Given the description of an element on the screen output the (x, y) to click on. 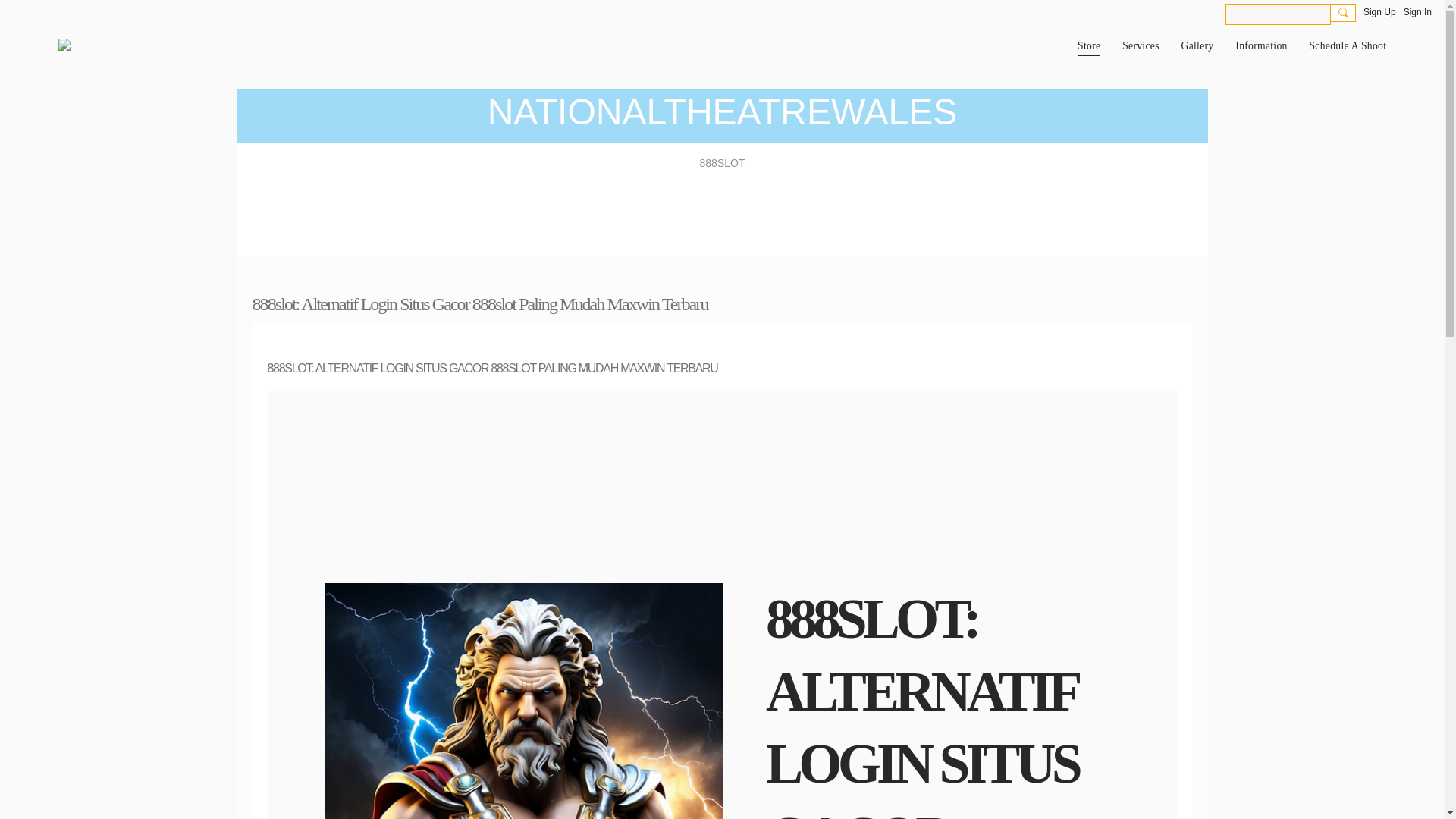
Store (1088, 46)
Gallery (1197, 46)
Schedule A Shoot (1347, 46)
Information (1260, 46)
888SLOT (722, 162)
Sign In (1417, 12)
Sign Up (1379, 12)
Services (1140, 46)
NATIONALTHEATREWALES (722, 111)
